Given the description of an element on the screen output the (x, y) to click on. 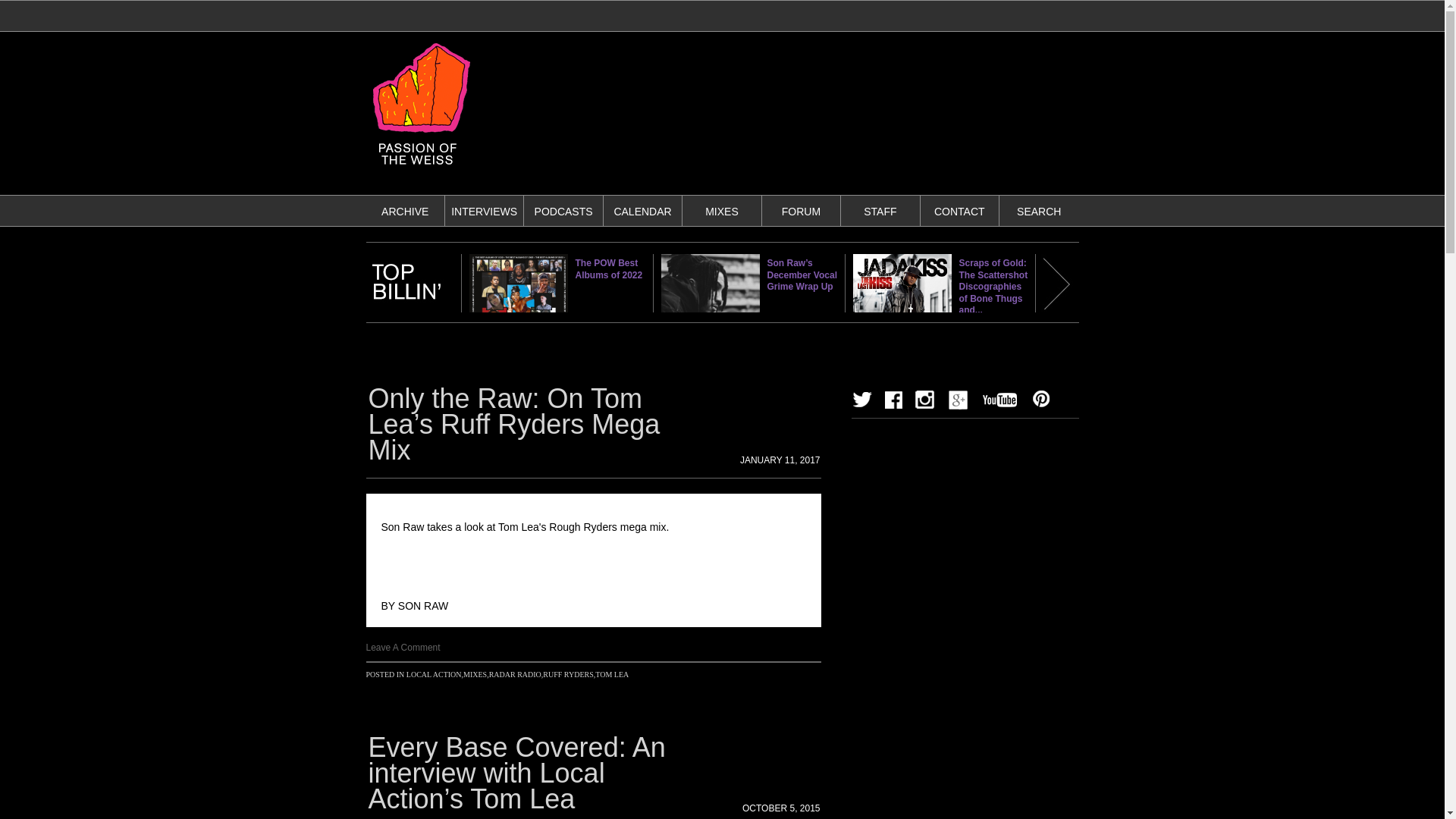
RADAR RADIO (515, 674)
SEARCH (1038, 211)
CALENDAR (641, 211)
SON RAW (422, 605)
STAFF (879, 211)
Leave A Comment (402, 647)
MIXES (474, 674)
MIXES (721, 211)
ARCHIVE (404, 211)
LOCAL ACTION (433, 674)
TOM LEA (611, 674)
INTERVIEWS (483, 211)
RUFF RYDERS (567, 674)
FORUM (801, 211)
